Given the description of an element on the screen output the (x, y) to click on. 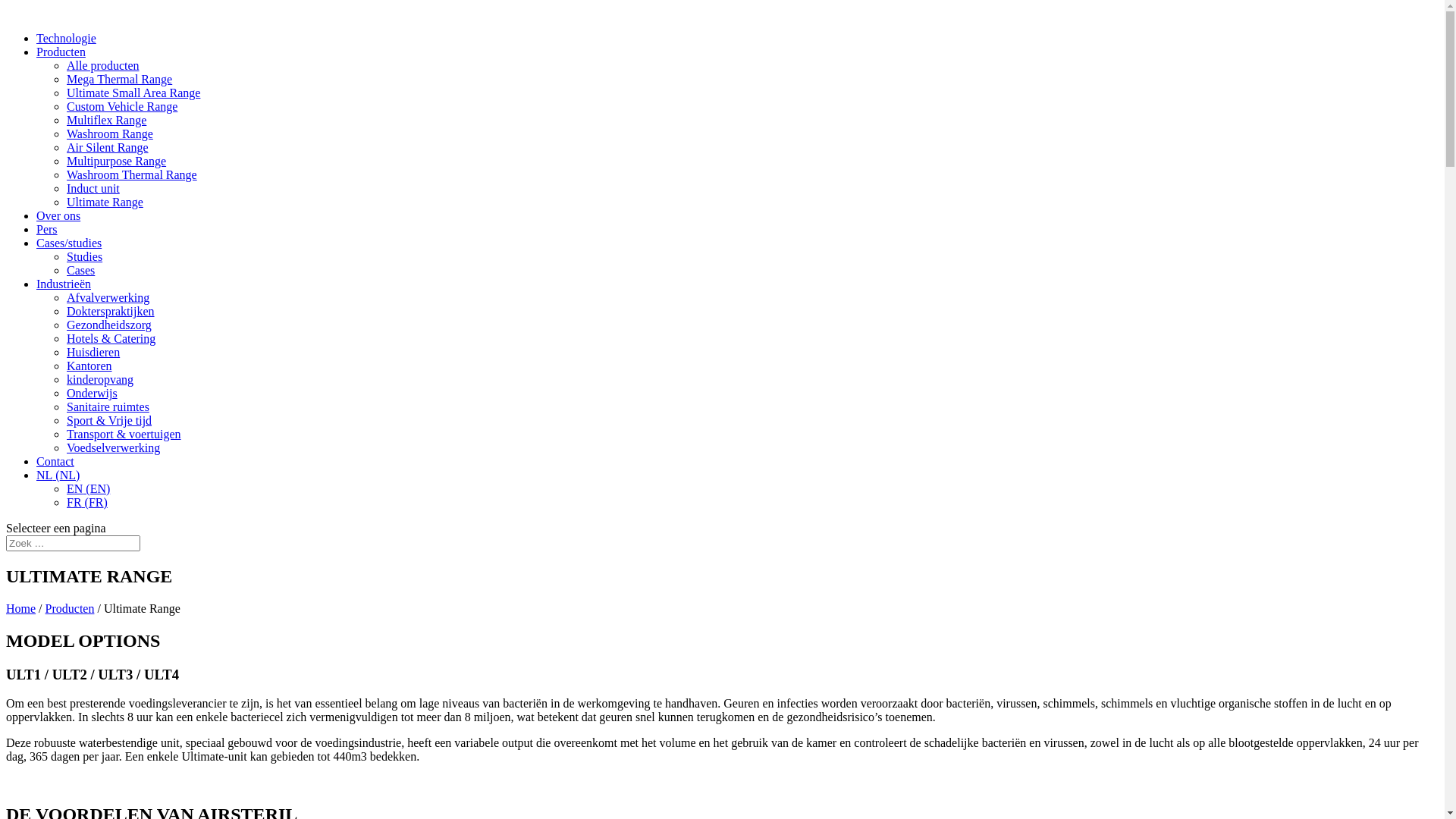
kinderopvang Element type: text (99, 379)
Transport & voertuigen Element type: text (123, 433)
Gezondheidszorg Element type: text (108, 324)
Onderwijs Element type: text (91, 392)
Cases/studies Element type: text (68, 242)
Ultimate Small Area Range Element type: text (133, 92)
Alle producten Element type: text (102, 65)
Kantoren Element type: text (89, 365)
Mega Thermal Range Element type: text (119, 78)
Voedselverwerking Element type: text (113, 447)
Producten Element type: text (60, 51)
Cases Element type: text (80, 269)
Sanitaire ruimtes Element type: text (107, 406)
Sport & Vrije tijd Element type: text (108, 420)
NL (NL) Element type: text (57, 474)
Producten Element type: text (69, 608)
Custom Vehicle Range Element type: text (121, 106)
Zoek naar: Element type: hover (73, 543)
Induct unit Element type: text (92, 188)
FR (FR) Element type: text (86, 501)
Contact Element type: text (55, 461)
Washroom Thermal Range Element type: text (131, 174)
Huisdieren Element type: text (92, 351)
Afvalverwerking Element type: text (107, 297)
Dokterspraktijken Element type: text (110, 310)
Studies Element type: text (84, 256)
Home Element type: text (20, 608)
Ultimate Range Element type: text (104, 201)
Multiflex Range Element type: text (106, 119)
EN (EN) Element type: text (87, 488)
Pers Element type: text (46, 228)
Washroom Range Element type: text (109, 133)
Air Silent Range Element type: text (107, 147)
Over ons Element type: text (58, 215)
Hotels & Catering Element type: text (110, 338)
Multipurpose Range Element type: text (116, 160)
Technologie Element type: text (66, 37)
